Given the description of an element on the screen output the (x, y) to click on. 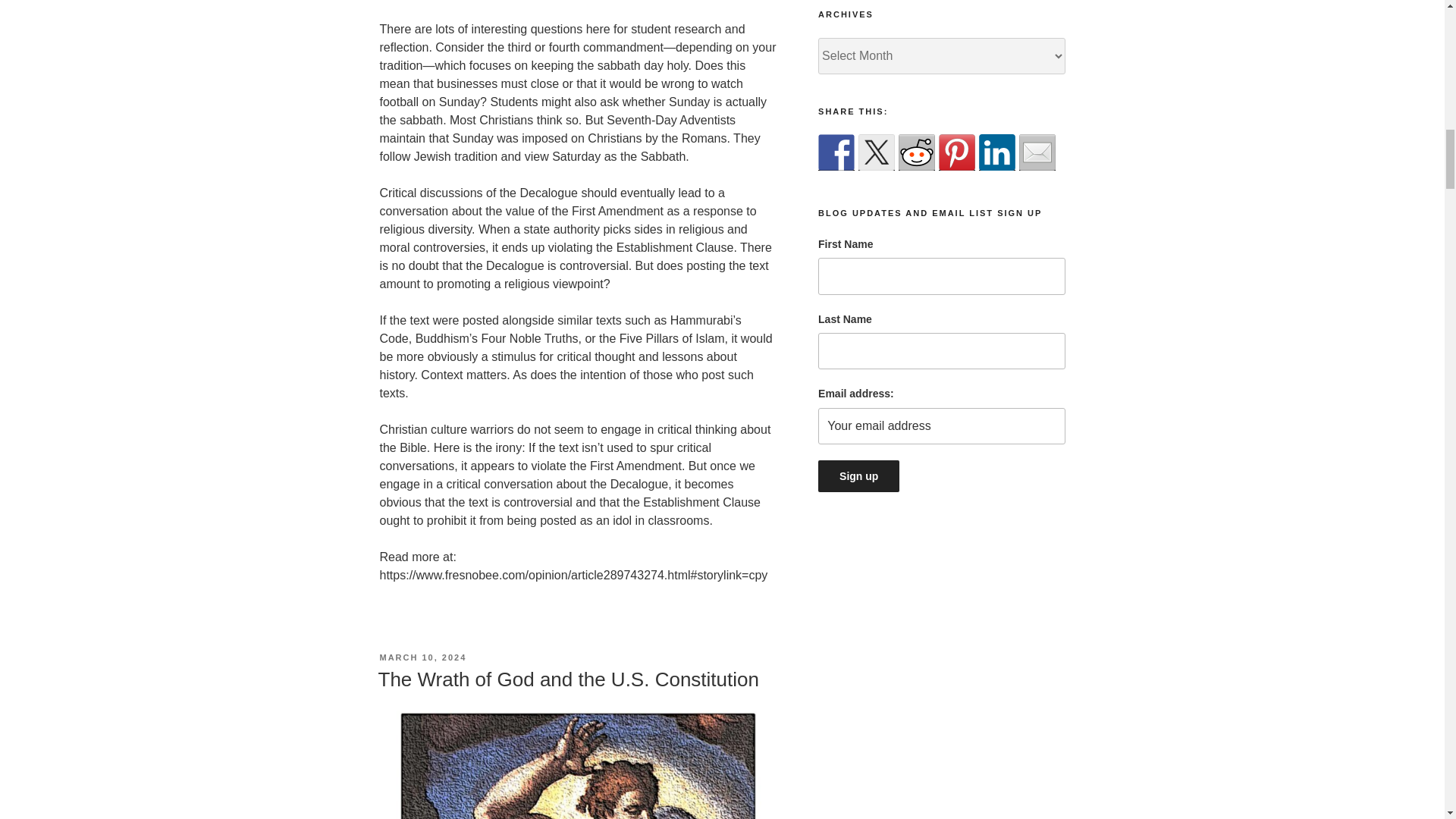
Pin it with Pinterest (957, 152)
Share on Facebook (836, 152)
MARCH 10, 2024 (421, 656)
Share on Reddit (916, 152)
Share on Linkedin (996, 152)
Sign up (858, 476)
Share on Twitter (877, 152)
The Wrath of God and the U.S. Constitution (567, 679)
Share by email (1037, 152)
